Given the description of an element on the screen output the (x, y) to click on. 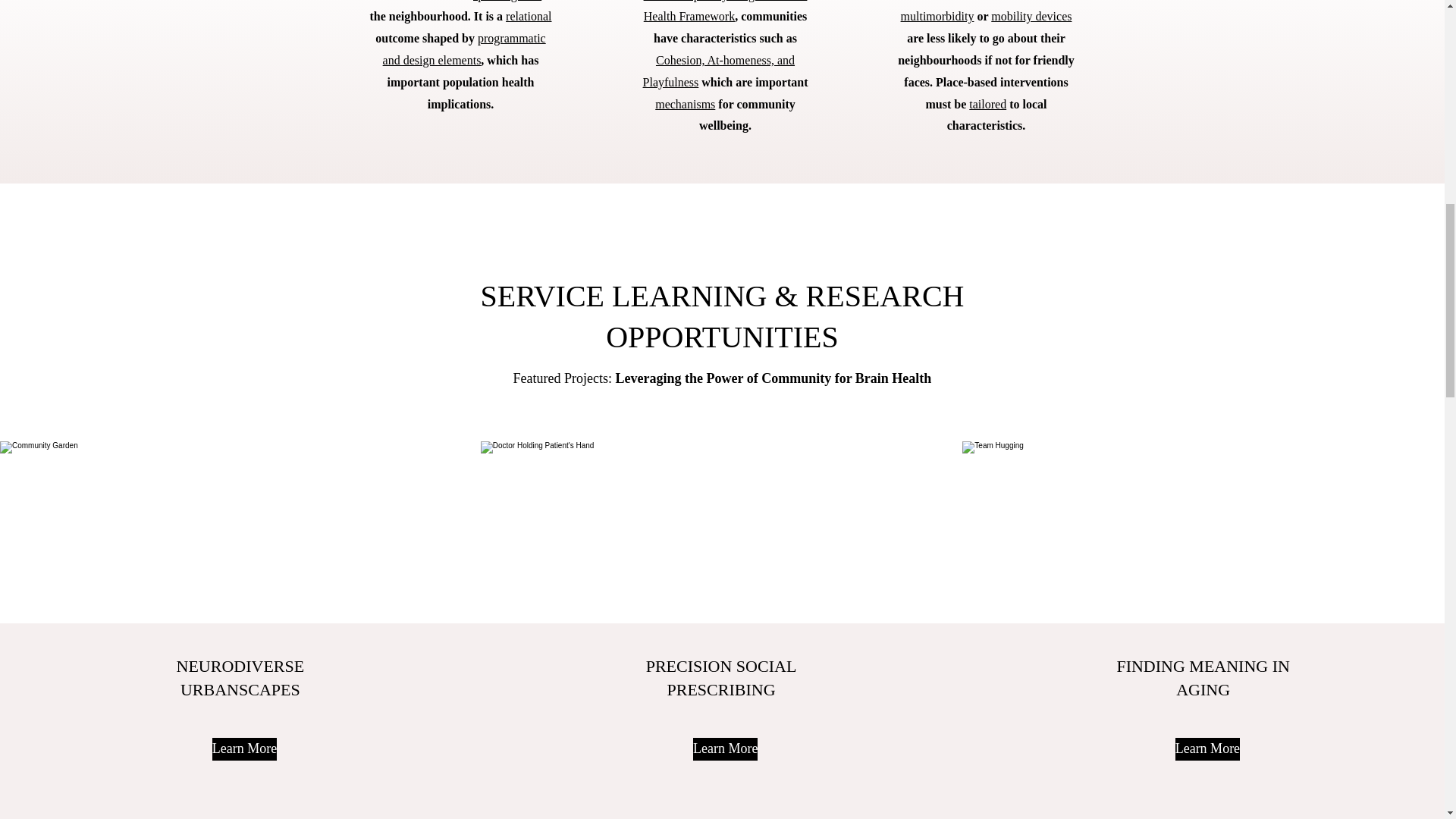
spending time (507, 0)
Learn More (725, 748)
Learn More (1207, 748)
relational (528, 15)
Learn More (244, 748)
multimorbidity (937, 15)
tailored (987, 103)
mechanisms (684, 103)
programmatic and design elements (464, 48)
Cohesion, At-homeness, and Playfulness (718, 71)
